Given the description of an element on the screen output the (x, y) to click on. 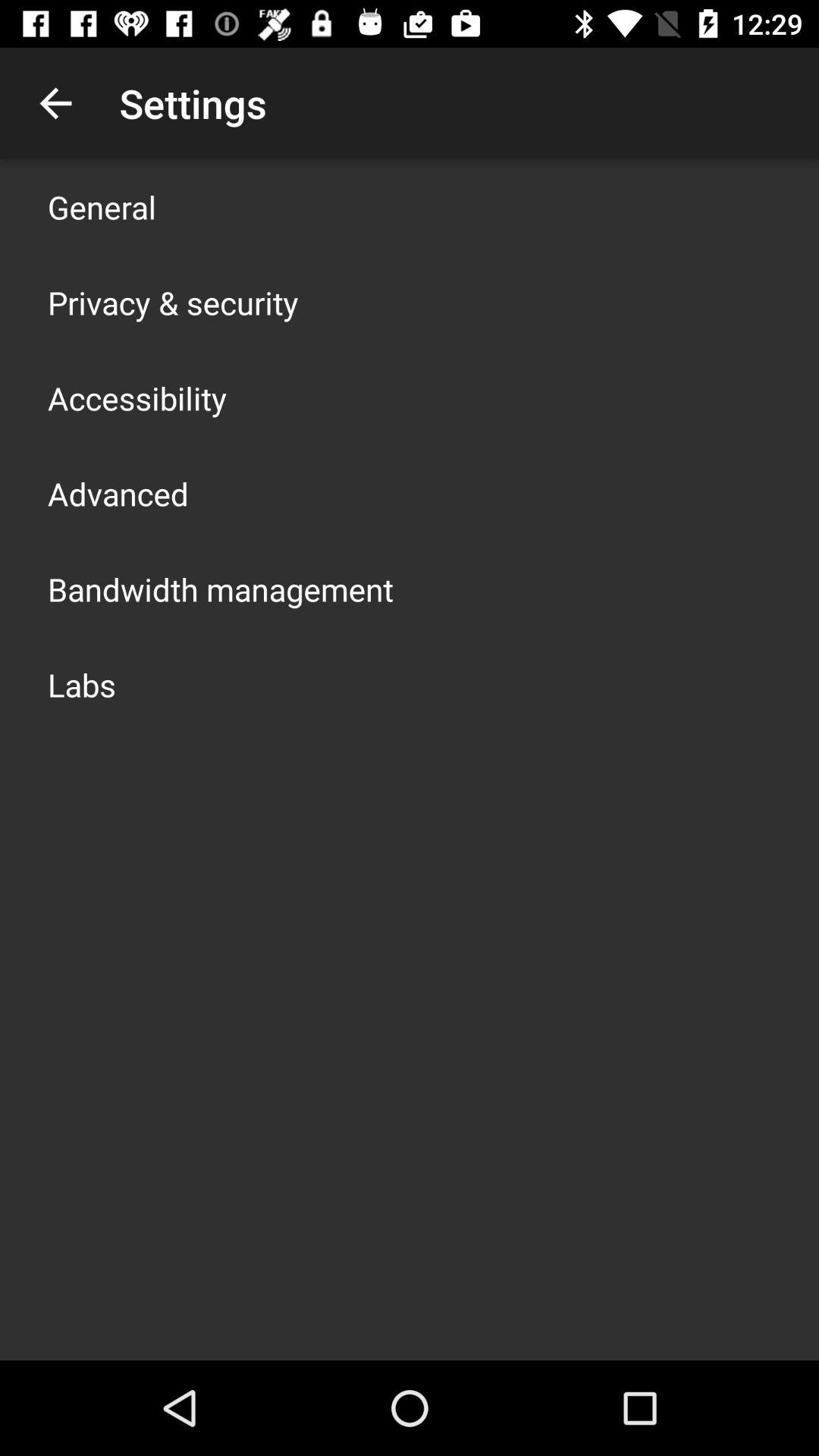
select advanced (117, 493)
